Given the description of an element on the screen output the (x, y) to click on. 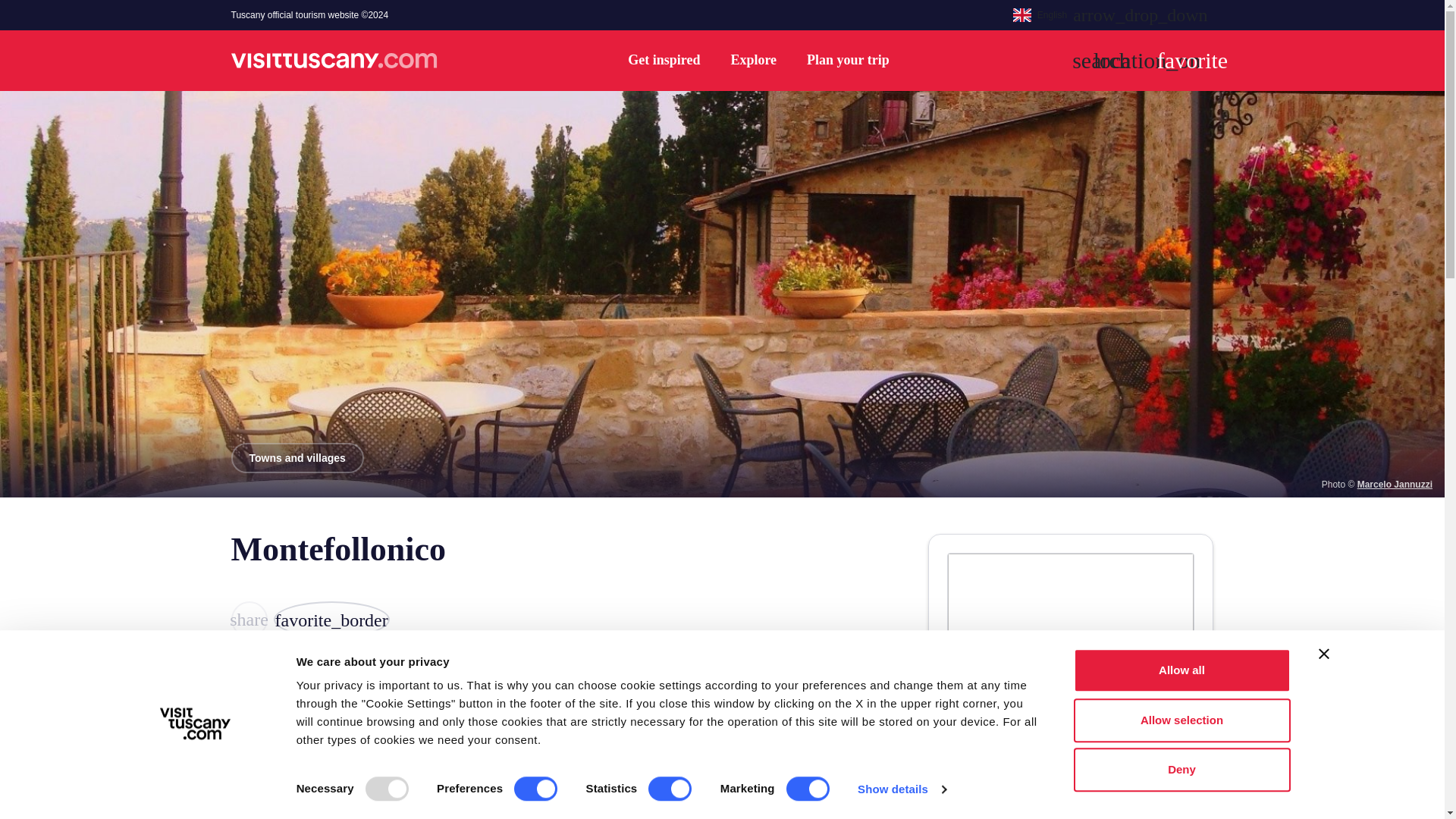
Show details (900, 789)
